Given the description of an element on the screen output the (x, y) to click on. 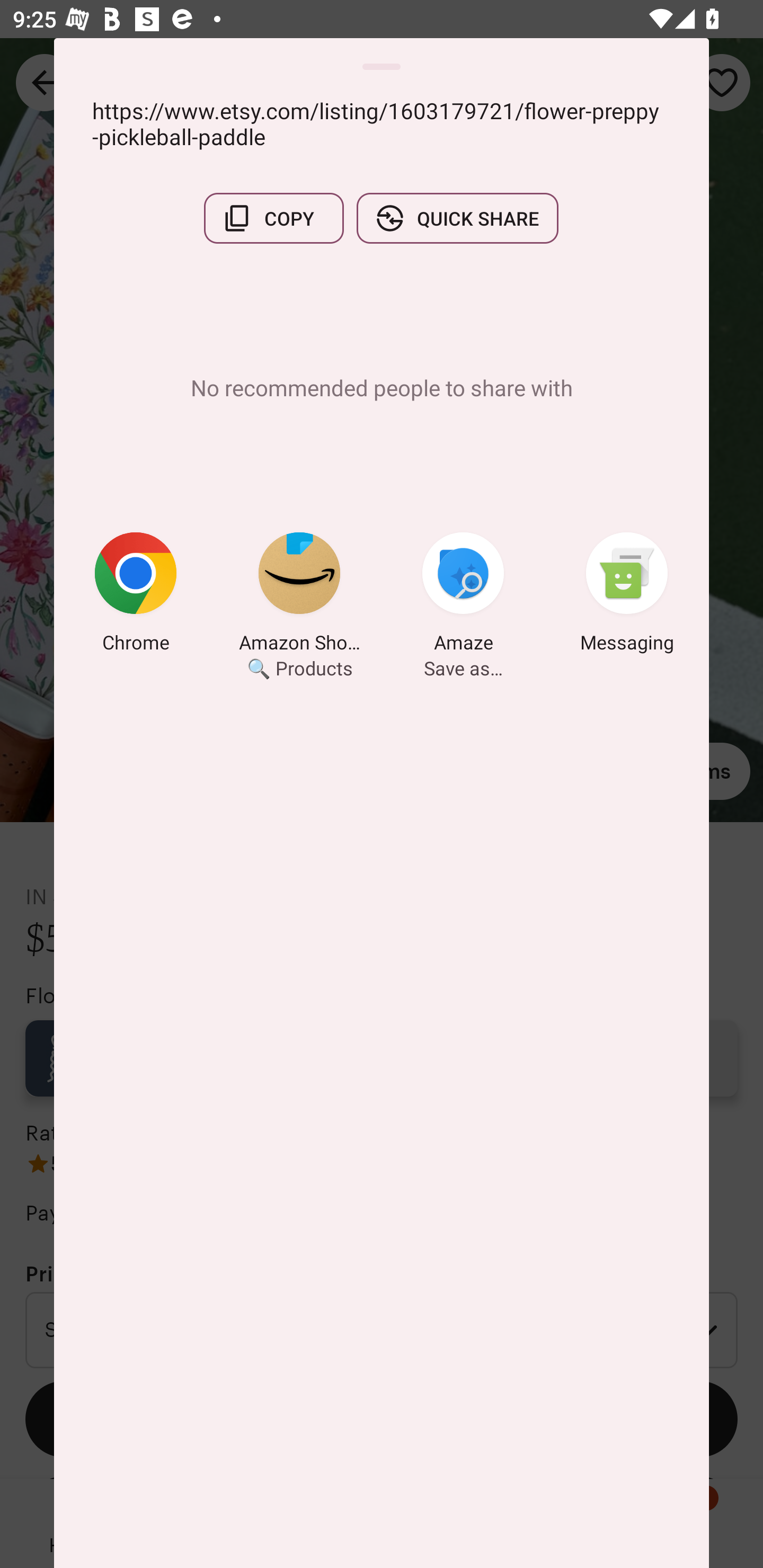
COPY (273, 218)
QUICK SHARE (457, 218)
Chrome (135, 594)
Amazon Shopping 🔍 Products (299, 594)
Amaze Save as… (463, 594)
Messaging (626, 594)
